Given the description of an element on the screen output the (x, y) to click on. 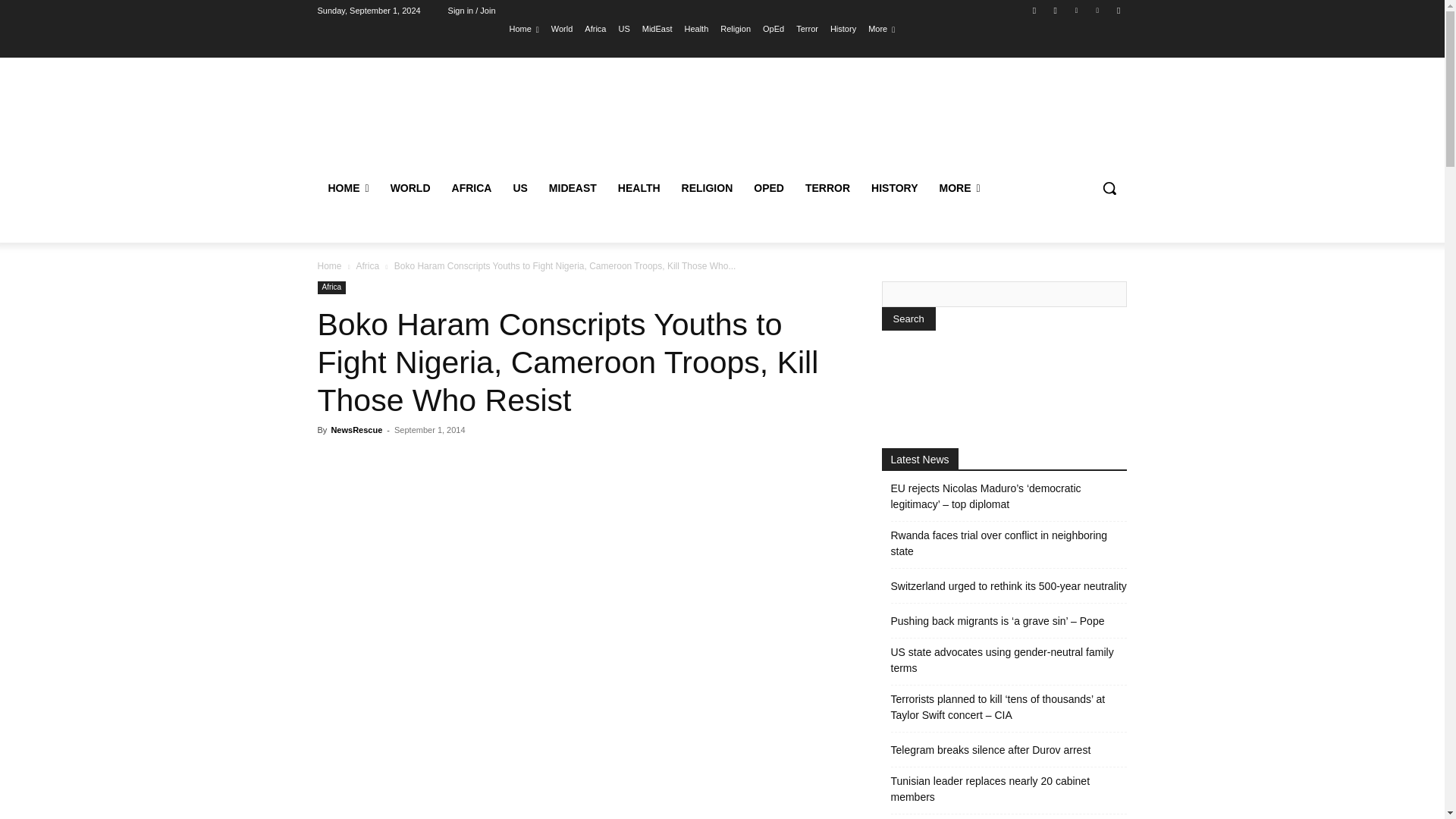
Terror (807, 28)
Vimeo (1097, 9)
Africa (595, 28)
Youtube (1117, 9)
Twitter (1075, 9)
Home (523, 28)
MidEast (657, 28)
Religion (735, 28)
Facebook (1034, 9)
View all posts in Africa (366, 266)
